Given the description of an element on the screen output the (x, y) to click on. 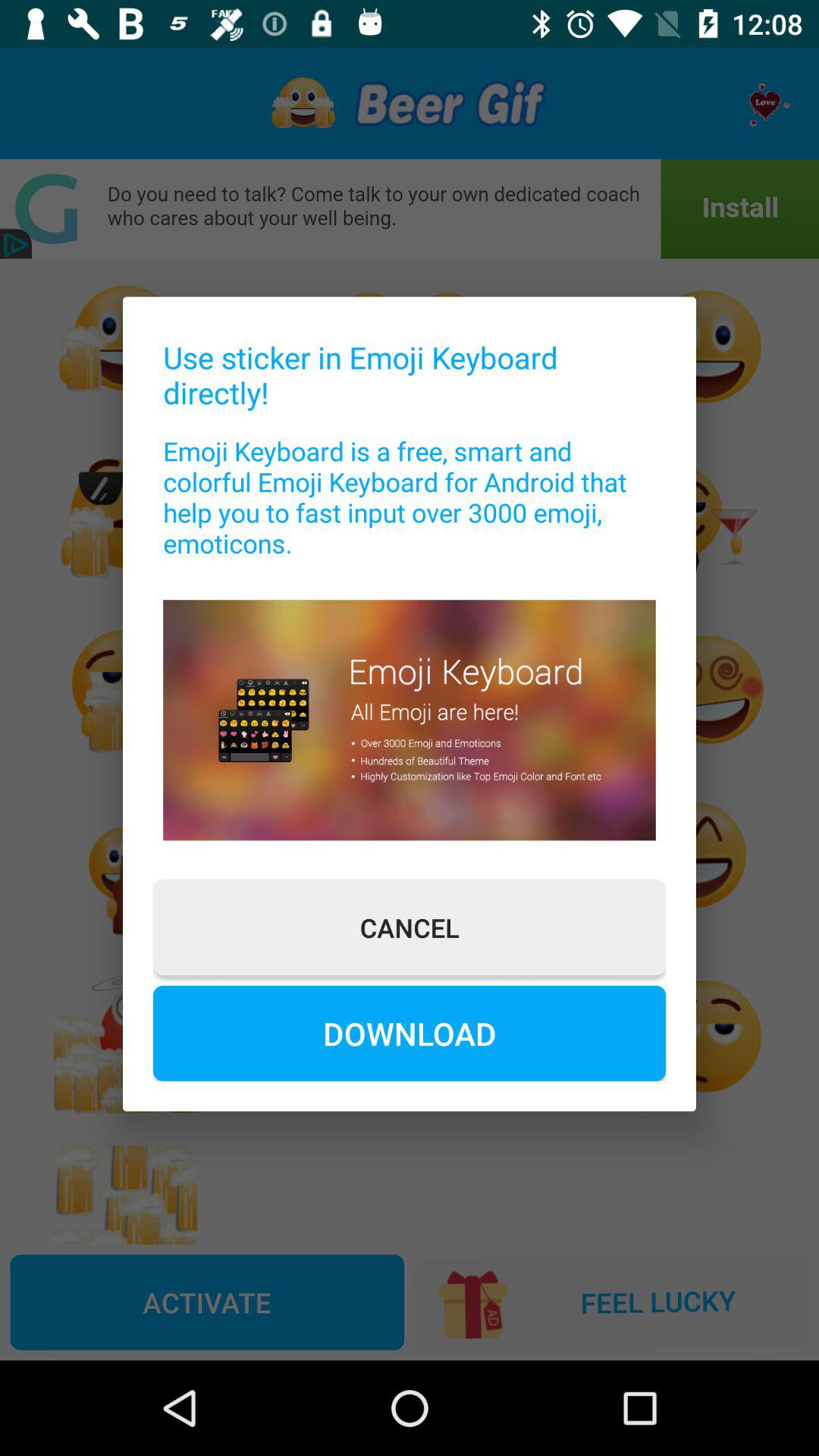
choose icon below the cancel icon (409, 1033)
